Given the description of an element on the screen output the (x, y) to click on. 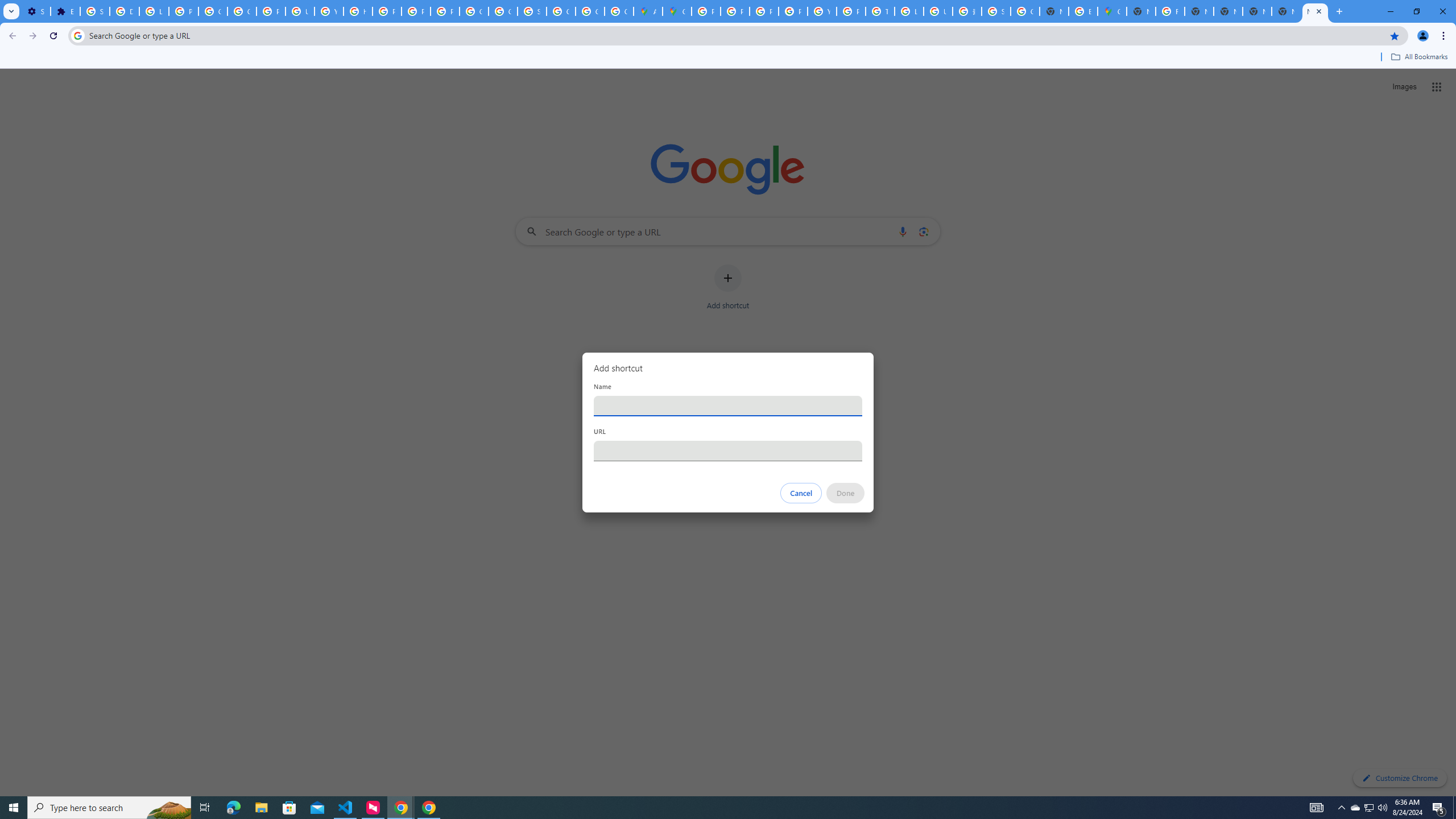
YouTube (821, 11)
New Tab (1140, 11)
New Tab (1286, 11)
Sign in - Google Accounts (95, 11)
https://scholar.google.com/ (357, 11)
Sign in - Google Accounts (531, 11)
Policy Accountability and Transparency - Transparency Center (705, 11)
